Given the description of an element on the screen output the (x, y) to click on. 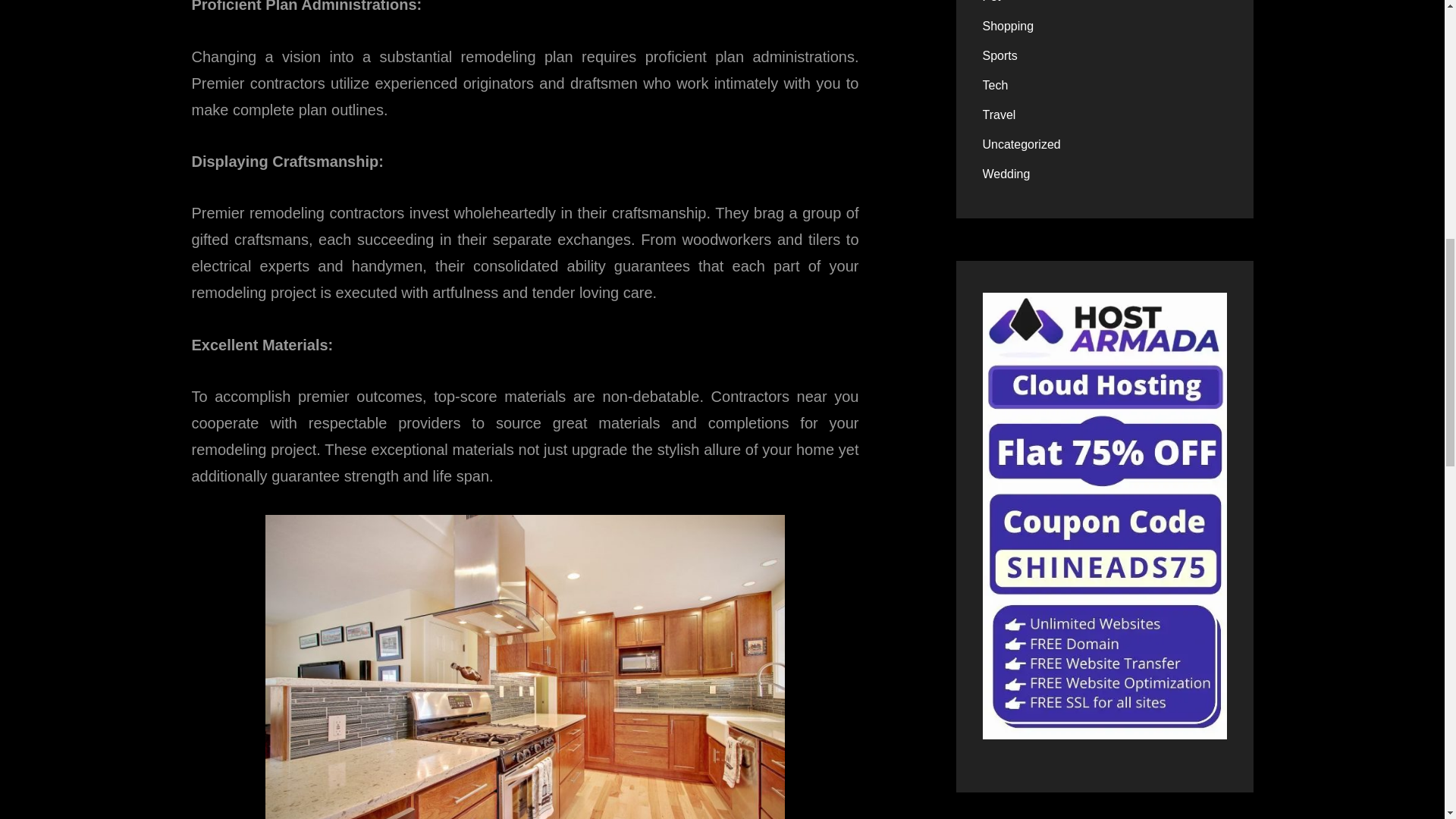
Sports (999, 55)
Uncategorized (1021, 144)
Pet (991, 4)
Shopping (1007, 26)
Travel (999, 115)
Tech (995, 85)
Wedding (1006, 174)
